Given the description of an element on the screen output the (x, y) to click on. 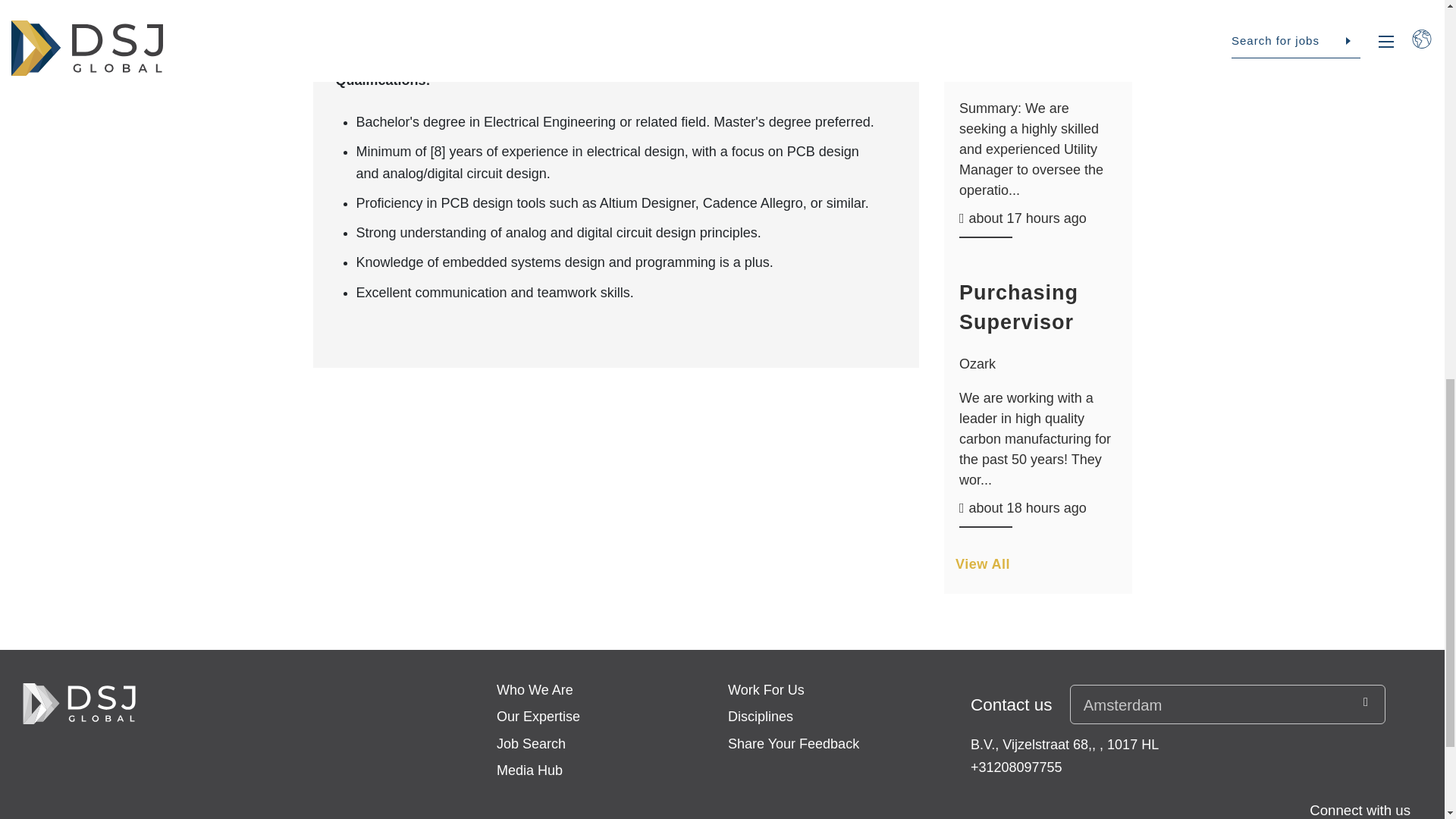
Go to the Homepage (79, 703)
View All (1037, 570)
DSJ Global HK (79, 703)
